Given the description of an element on the screen output the (x, y) to click on. 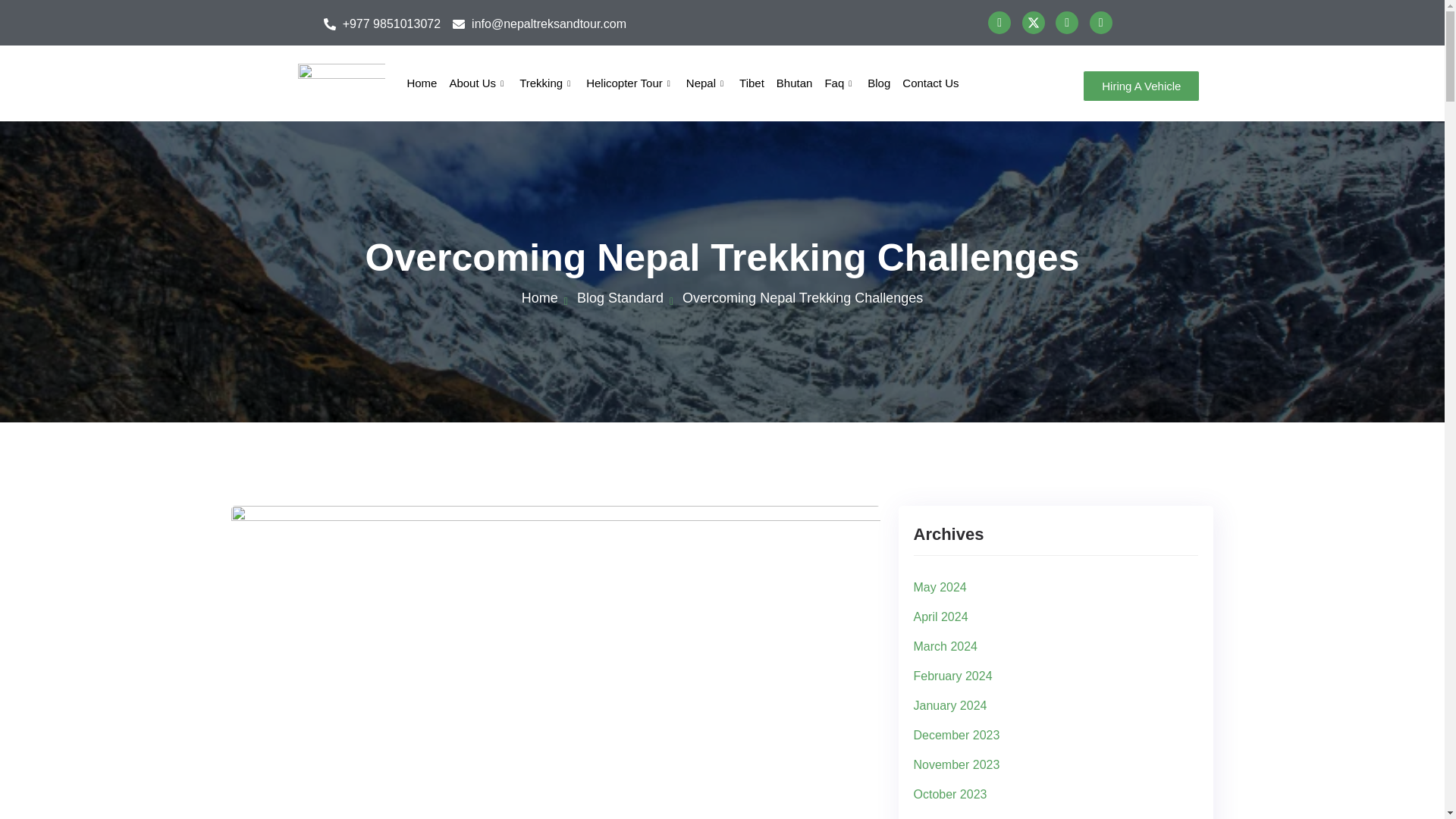
About Us (477, 83)
Trekking (546, 83)
